Given the description of an element on the screen output the (x, y) to click on. 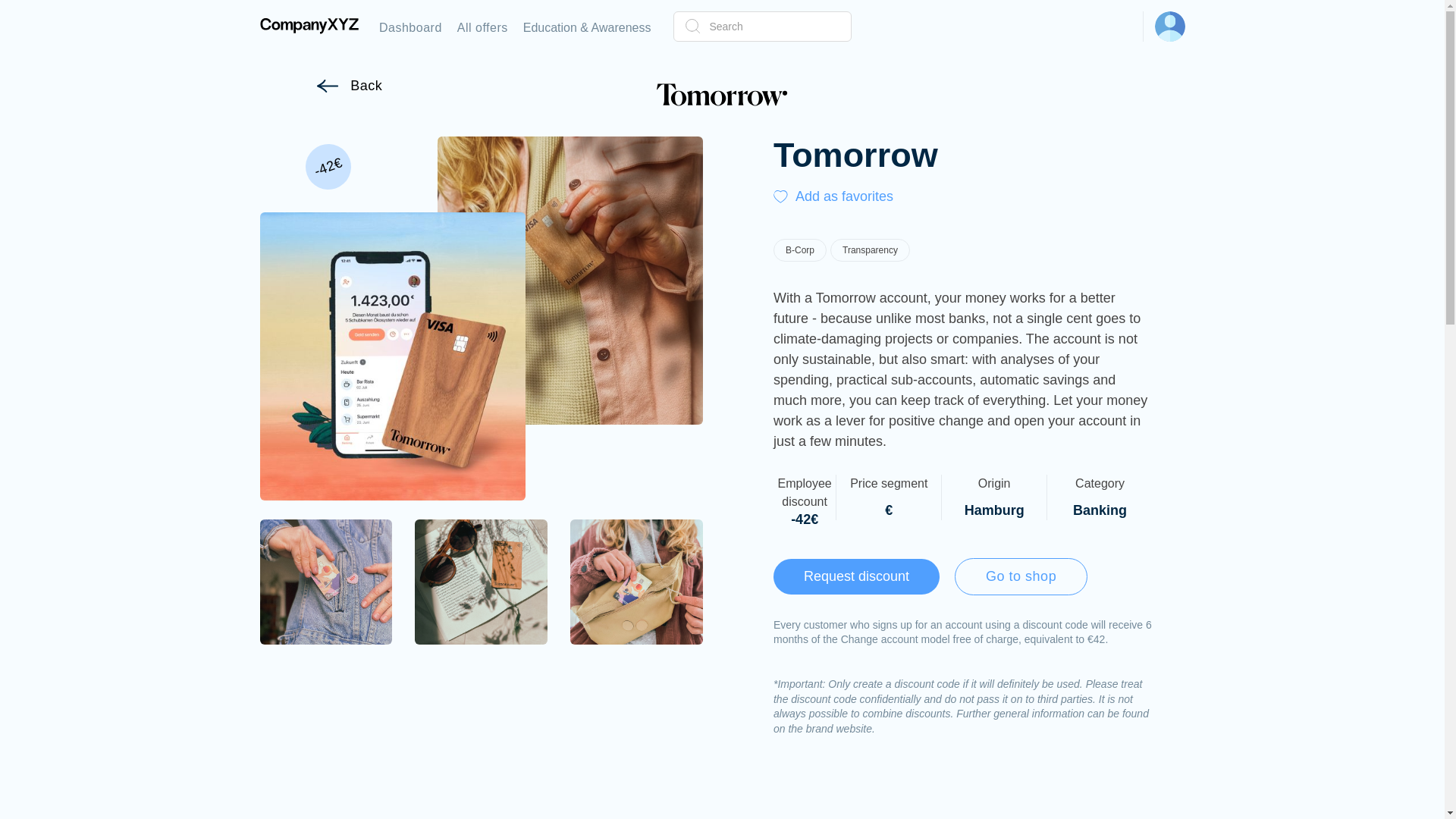
All offers (482, 25)
Add as favorites (848, 196)
Add as favorites (848, 196)
Dashboard (410, 25)
Request discount (856, 575)
Request discount (856, 575)
Go to shop (1021, 576)
Back (349, 86)
